Given the description of an element on the screen output the (x, y) to click on. 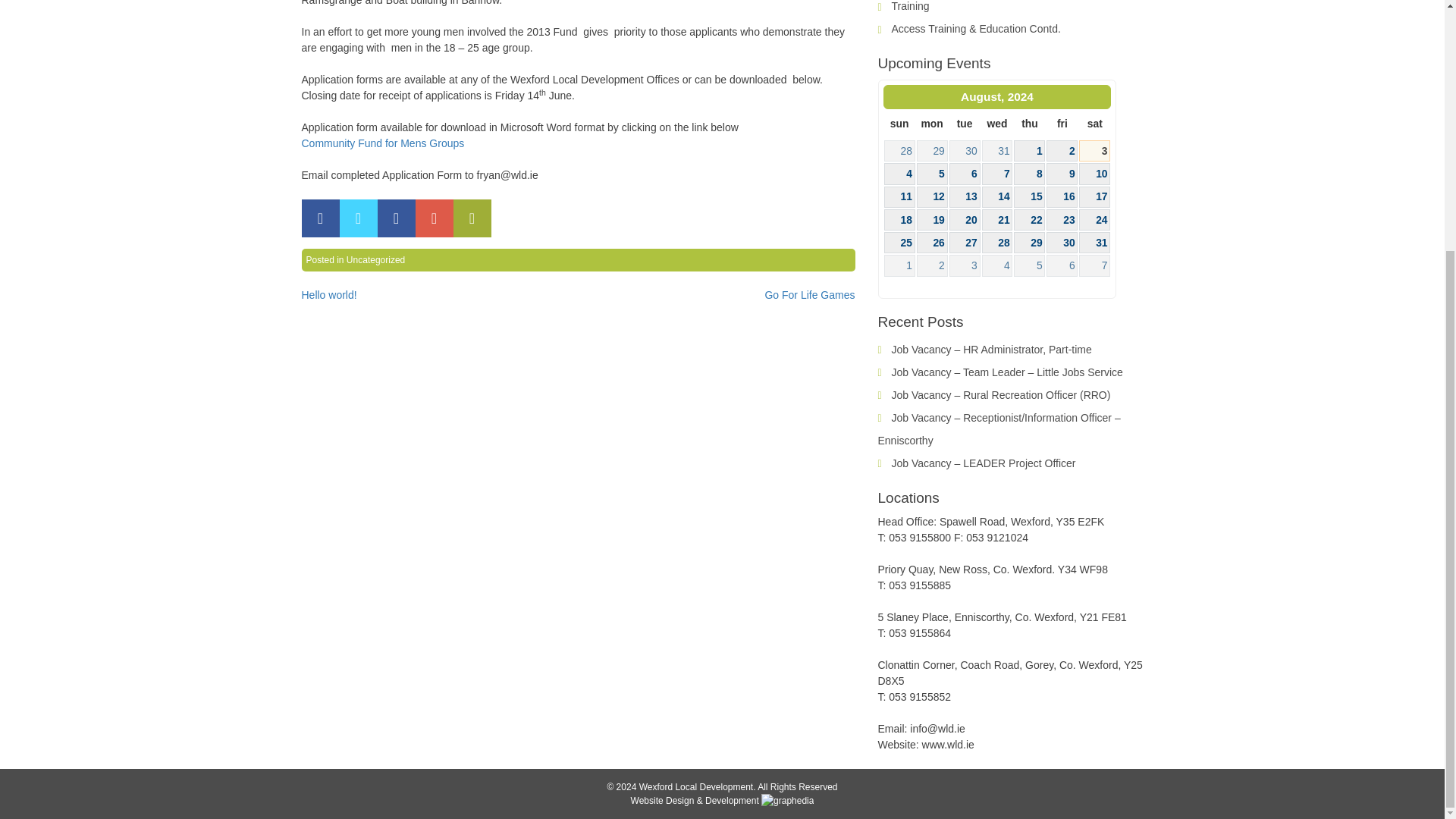
Share by Email (472, 218)
Share on Facebook (320, 218)
Share on Twitter (358, 218)
Community Fund for Mens Groups (382, 143)
Share on LinkedIn (395, 218)
Share on Google Plus (433, 218)
